Given the description of an element on the screen output the (x, y) to click on. 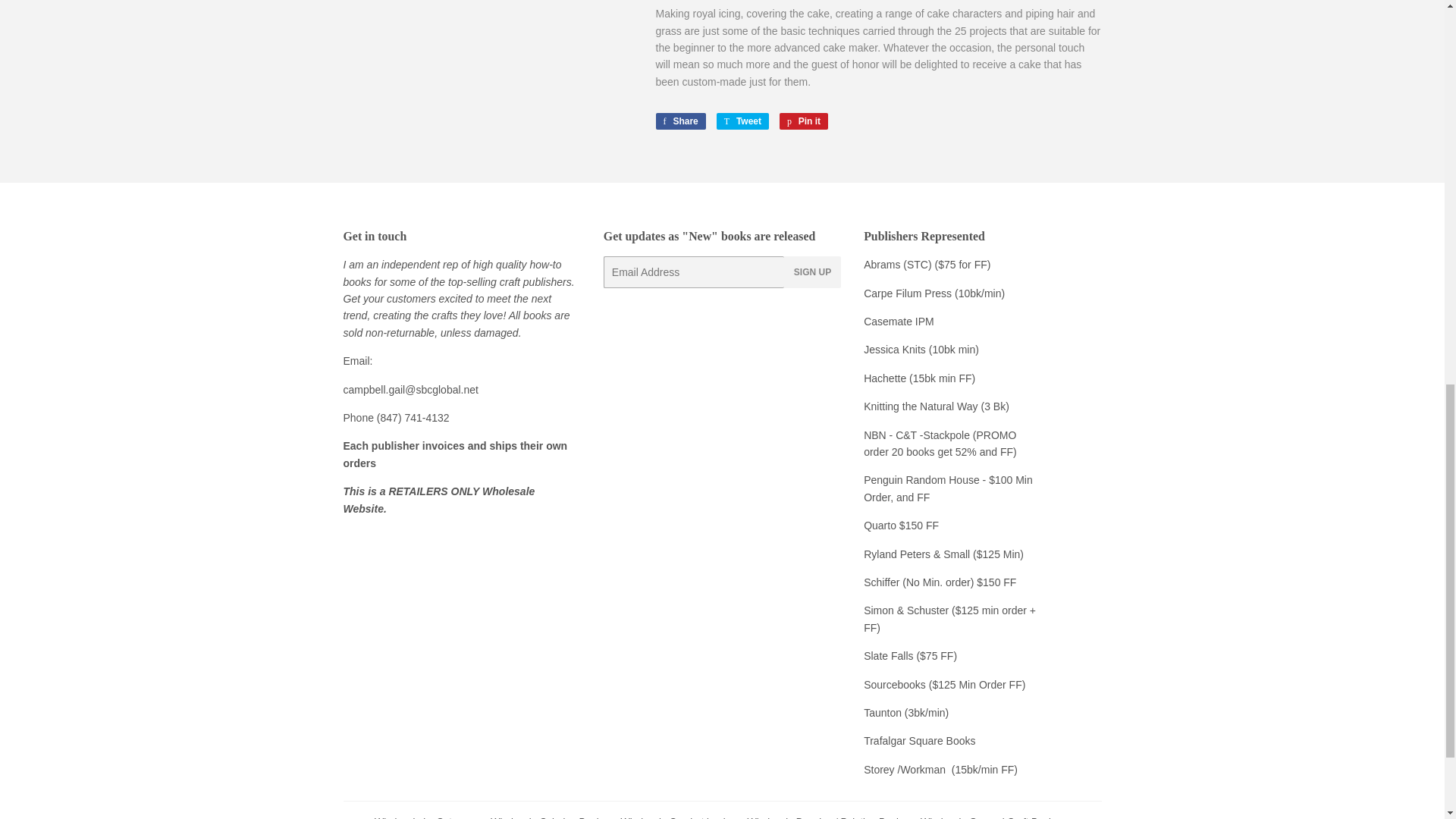
SIGN UP (812, 272)
Penguin Random House (921, 480)
Sourcebooks (944, 684)
Pin on Pinterest (803, 121)
Quarto (881, 525)
Hachette (884, 378)
Tweet on Twitter (742, 121)
Casemate IPM (742, 121)
Knitting the Natural Way (898, 321)
Share on Facebook (919, 406)
Schiffer (679, 121)
Carpe Filum Press (882, 582)
